Given the description of an element on the screen output the (x, y) to click on. 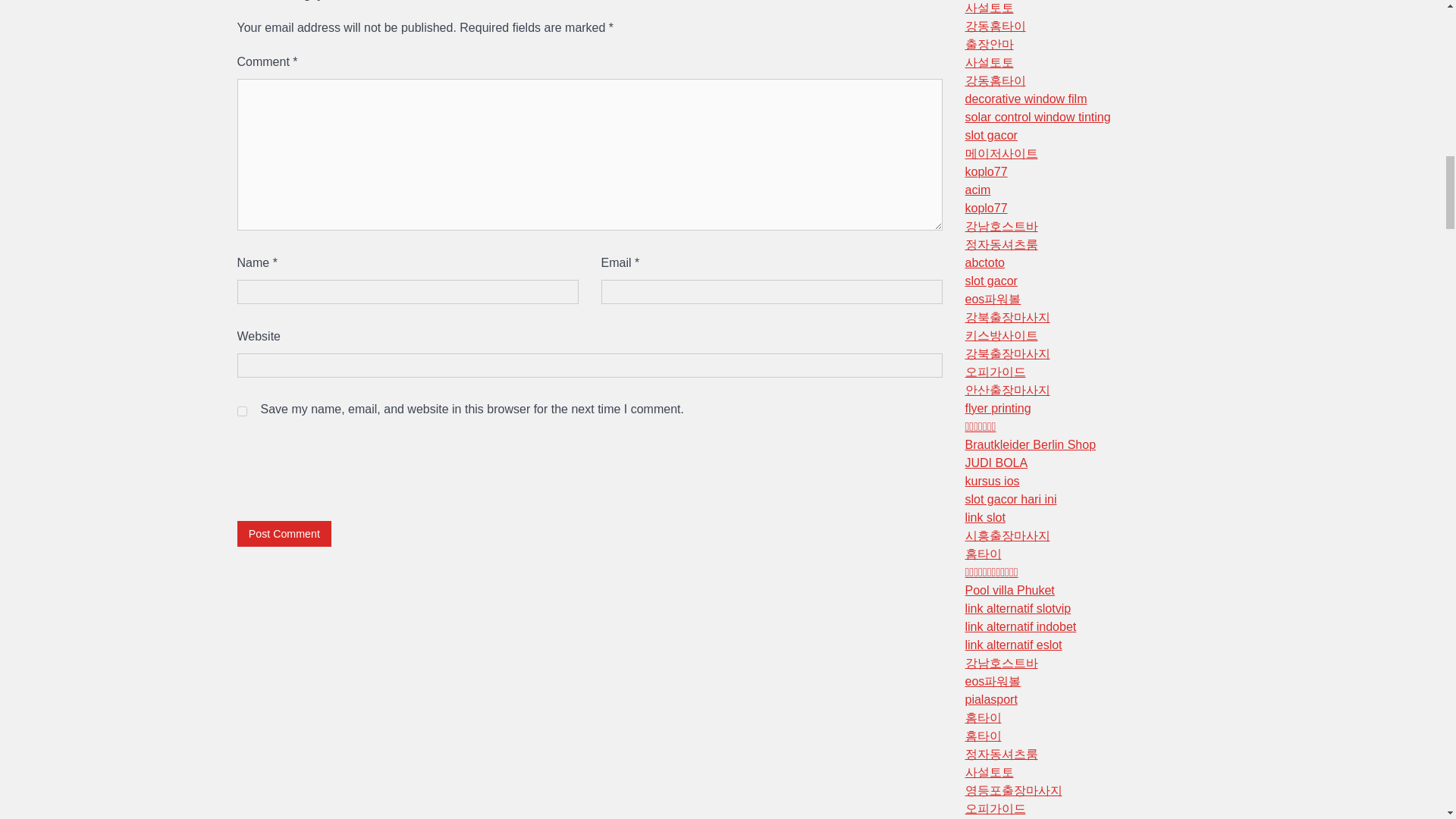
Post Comment (283, 533)
yes (240, 411)
reCAPTCHA (351, 466)
Post Comment (283, 533)
